Given the description of an element on the screen output the (x, y) to click on. 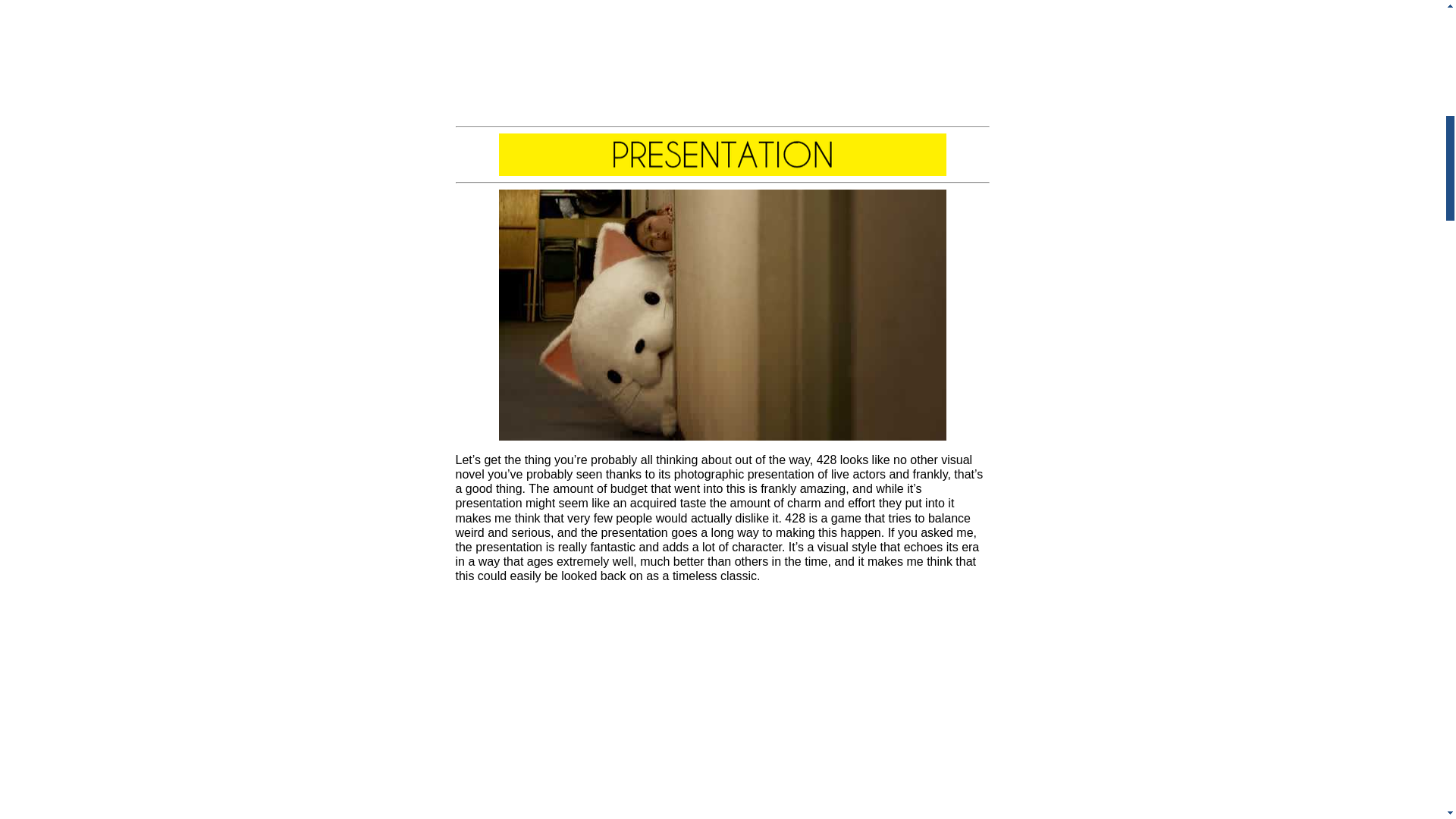
qjufndbzhvlgvdljsocy (722, 314)
aaaq1gy7w9iazdrnmucp (722, 154)
